Given the description of an element on the screen output the (x, y) to click on. 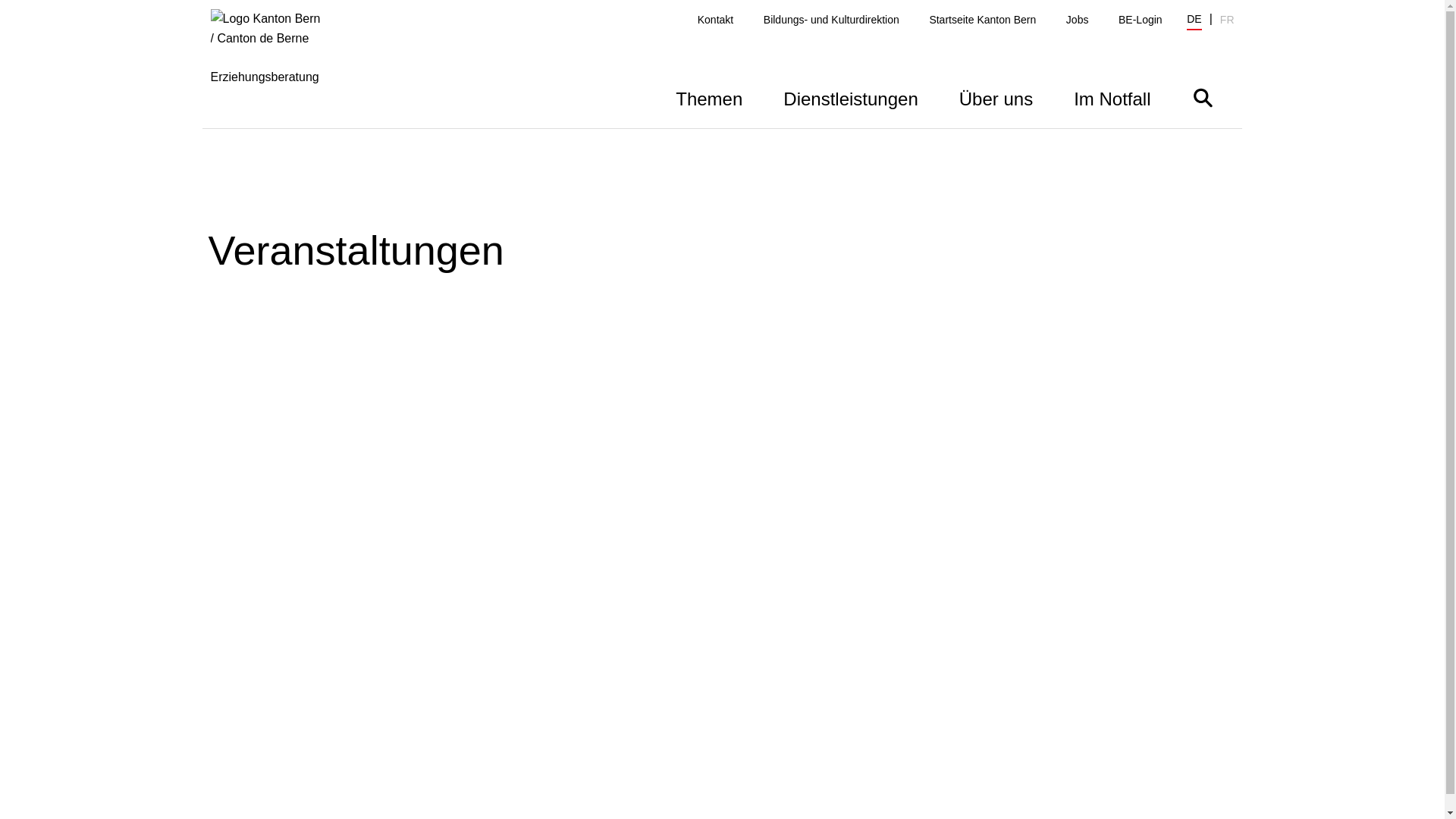
BE-Login Element type: text (1140, 19)
Erziehungsberatung Element type: text (275, 68)
Suche ein- oder ausblenden Element type: text (1201, 96)
Bildungs- und Kulturdirektion Element type: text (831, 19)
Startseite Kanton Bern Element type: text (981, 19)
Im Notfall Element type: text (1111, 96)
Kontakt Element type: text (715, 19)
Dienstleistungen Element type: text (850, 96)
DE Element type: text (1193, 21)
Themen Element type: text (708, 96)
Jobs Element type: text (1077, 19)
